Given the description of an element on the screen output the (x, y) to click on. 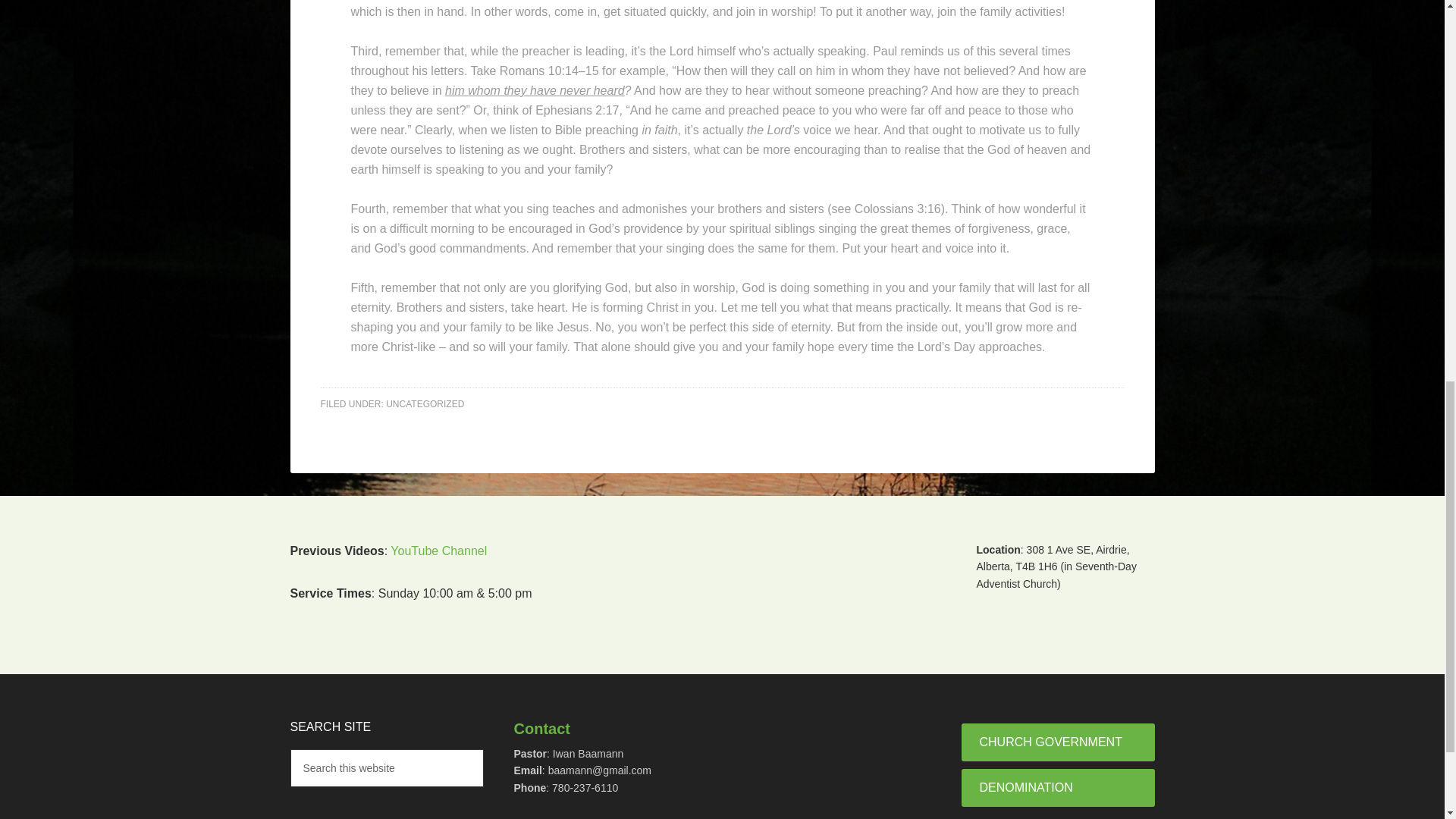
CHURCH GOVERNMENT (1057, 742)
DENOMINATION (1057, 787)
YouTube Channel (438, 550)
Contact (541, 728)
UNCATEGORIZED (424, 403)
